Given the description of an element on the screen output the (x, y) to click on. 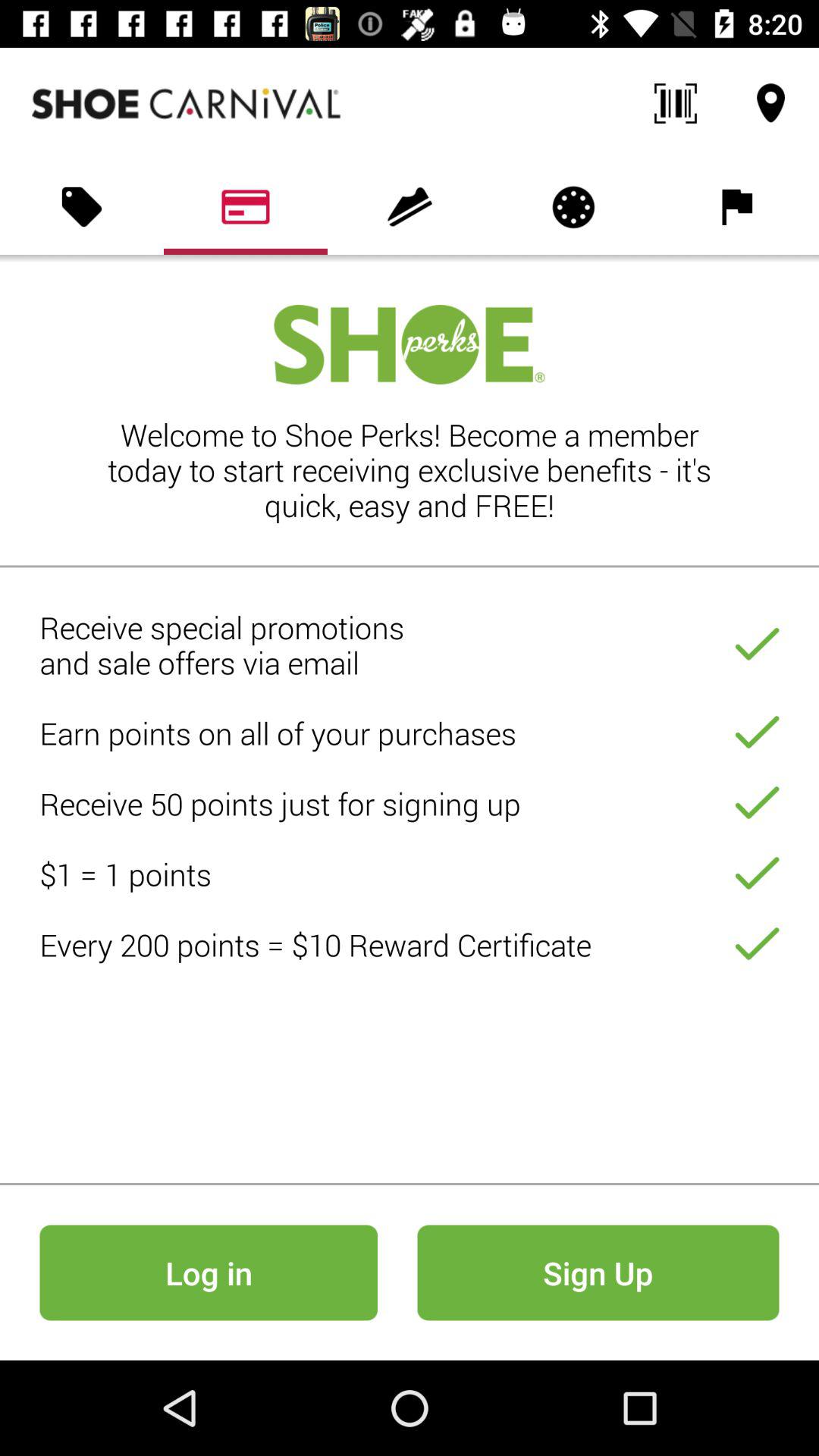
launch the log in at the bottom left corner (208, 1272)
